Given the description of an element on the screen output the (x, y) to click on. 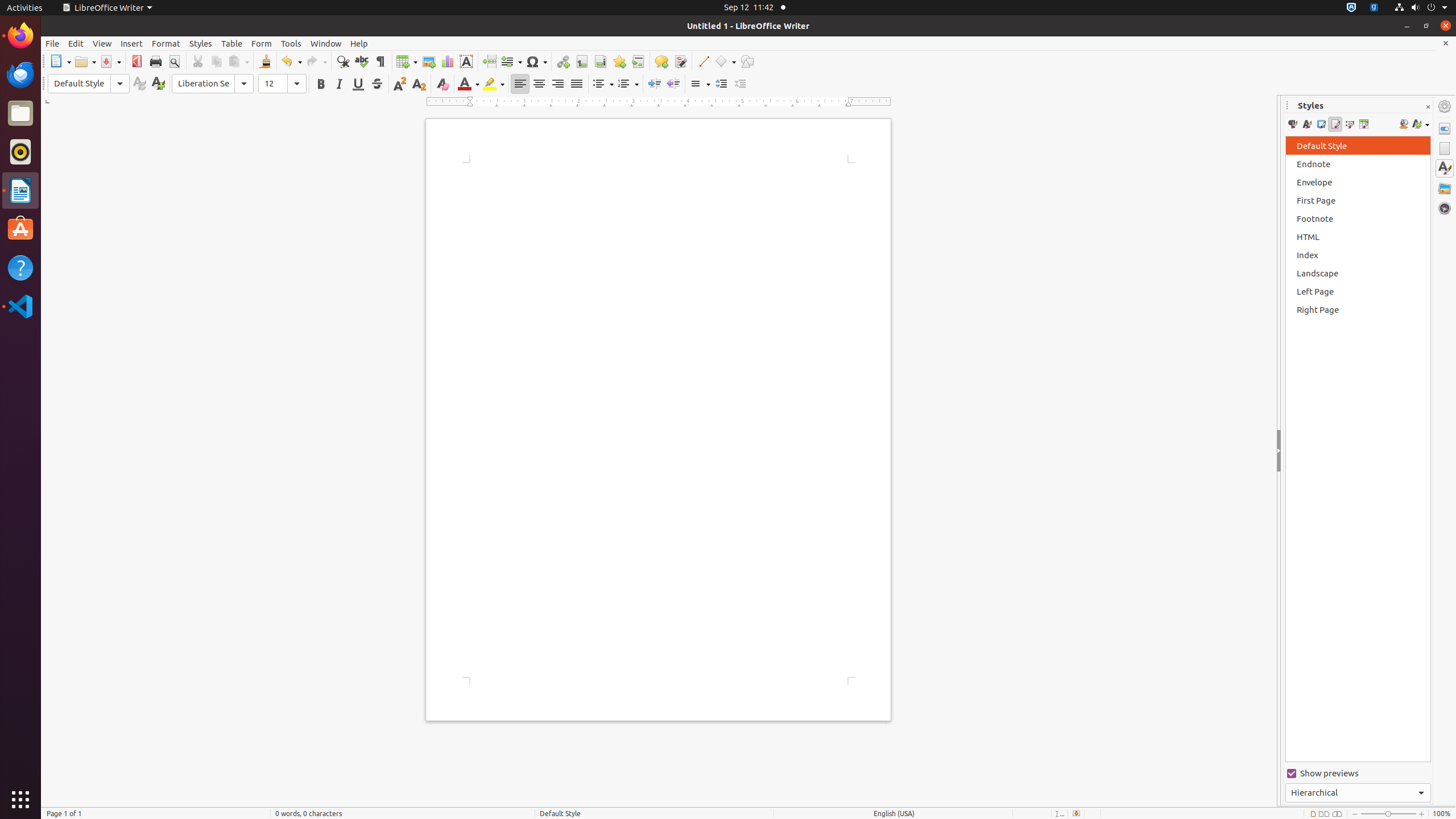
Print Preview Element type: toggle-button (173, 61)
Font Color Element type: push-button (468, 83)
Form Element type: menu (261, 43)
Strikethrough Element type: toggle-button (376, 83)
Help Element type: push-button (20, 267)
